Given the description of an element on the screen output the (x, y) to click on. 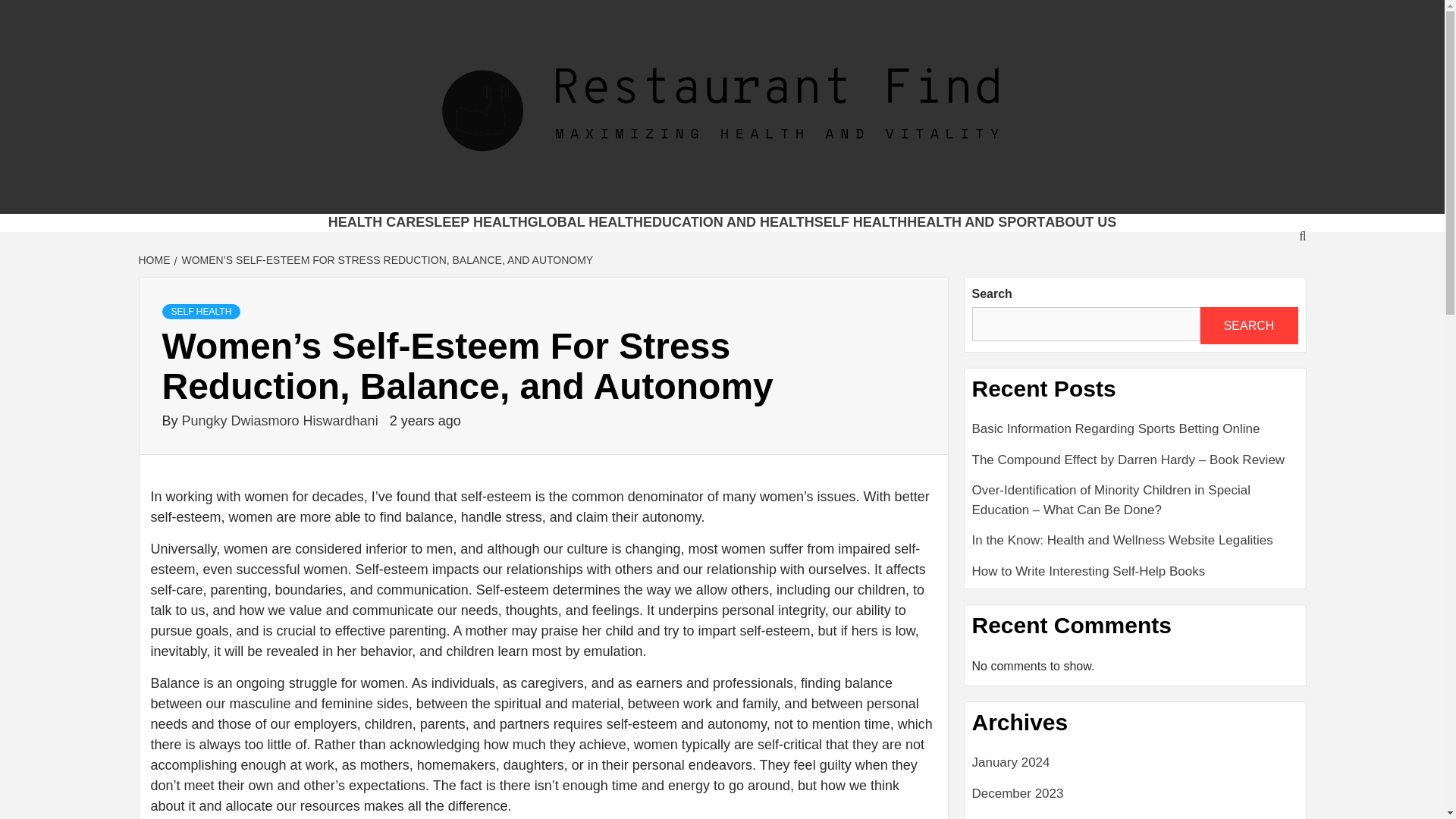
EDUCATION AND HEALTH (728, 222)
SEARCH (1248, 325)
HEALTH CARE (377, 222)
January 2024 (1135, 767)
November 2023 (1135, 816)
SLEEP HEALTH (476, 222)
HOME (155, 259)
In the Know: Health and Wellness Website Legalities (1135, 545)
December 2023 (1135, 798)
RESTAURANT FIND (499, 194)
